Given the description of an element on the screen output the (x, y) to click on. 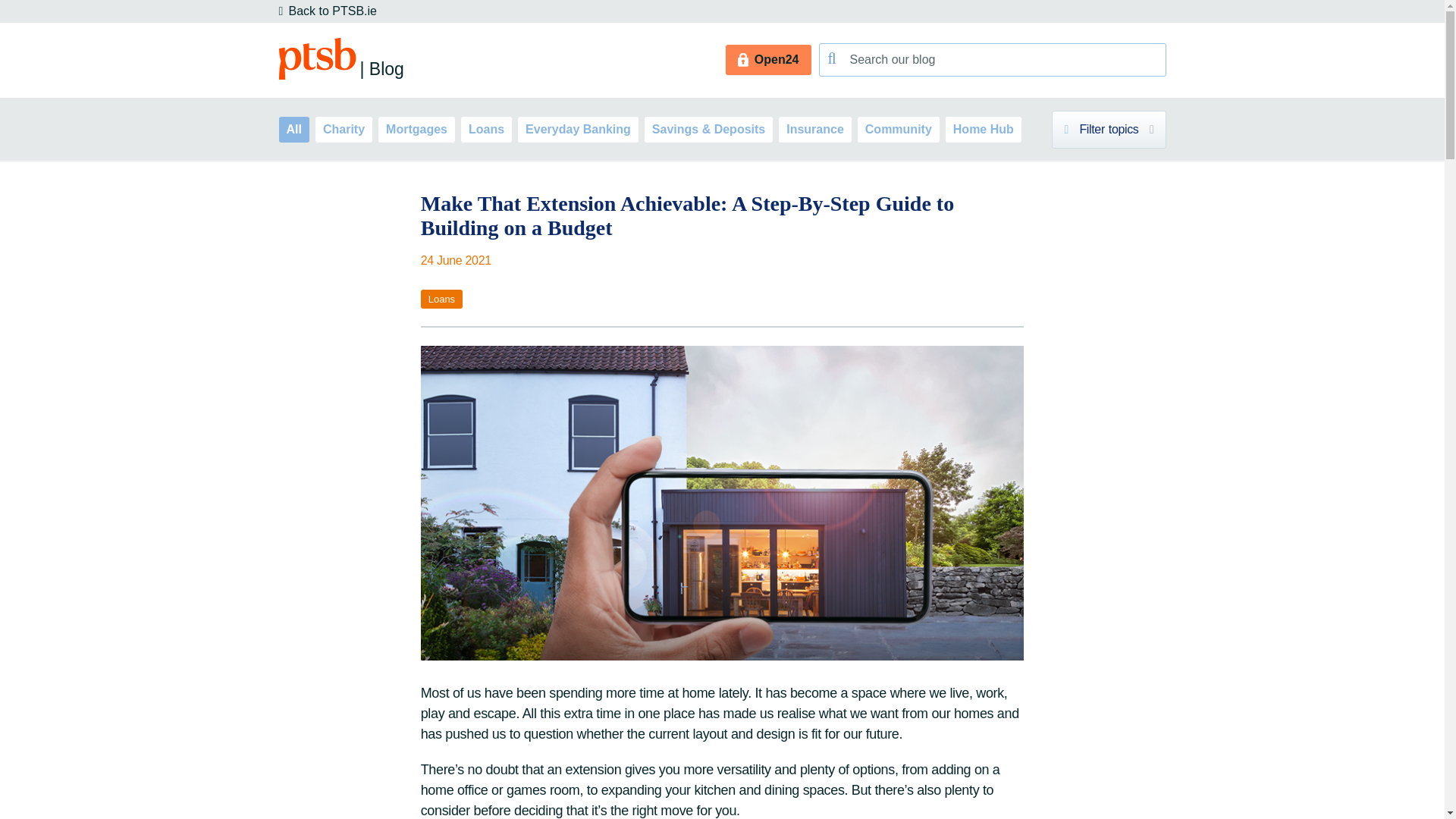
Home Hub (983, 129)
Loans (1108, 129)
Insurance (486, 129)
Open24 (814, 129)
All (767, 60)
Charity (293, 129)
Back to PTSB.ie (343, 129)
Mortgages (328, 10)
Everyday Banking (416, 129)
Loans (578, 129)
Community (441, 298)
